Given the description of an element on the screen output the (x, y) to click on. 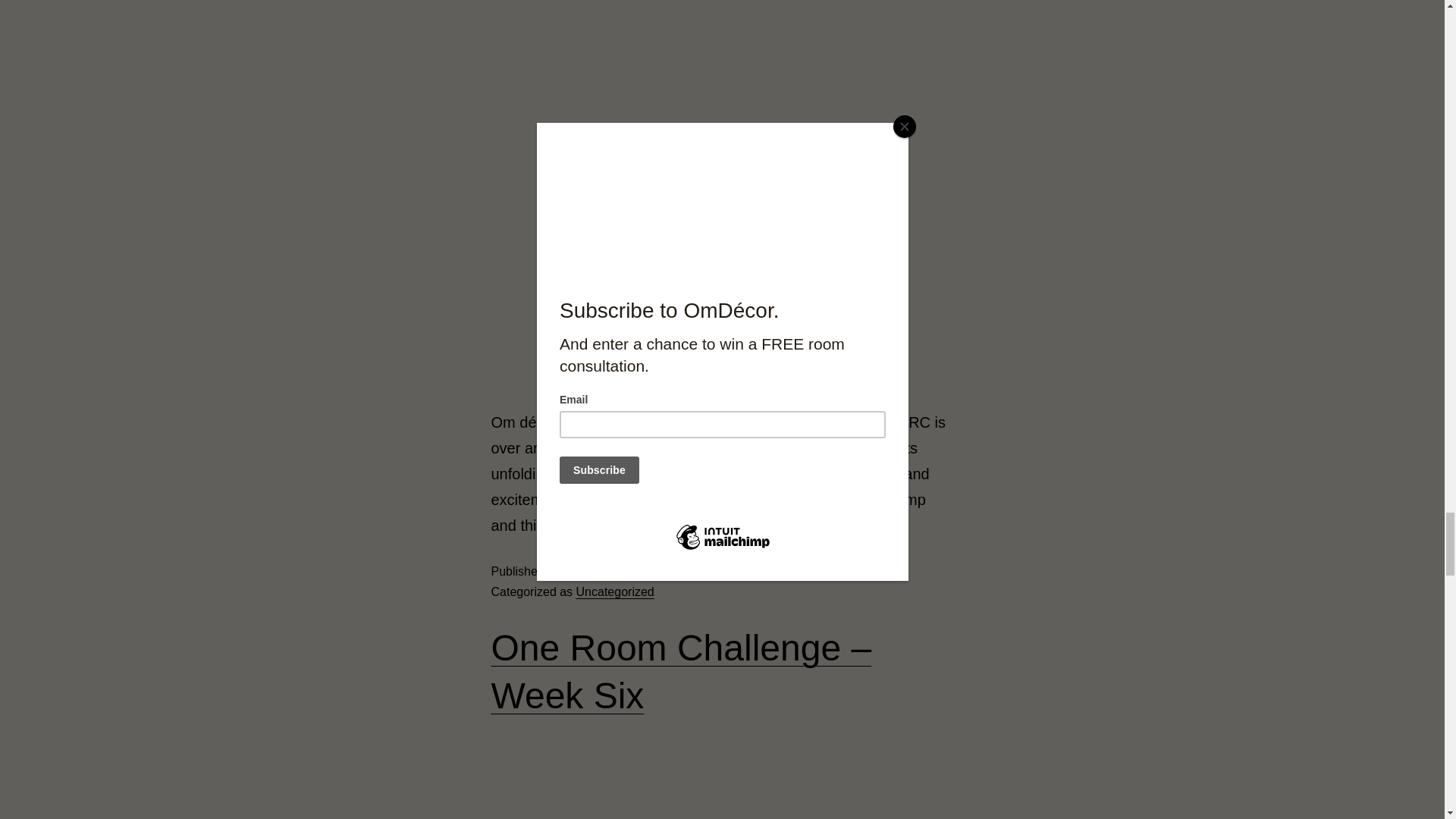
Uncategorized (614, 591)
Continue reading (678, 524)
